Given the description of an element on the screen output the (x, y) to click on. 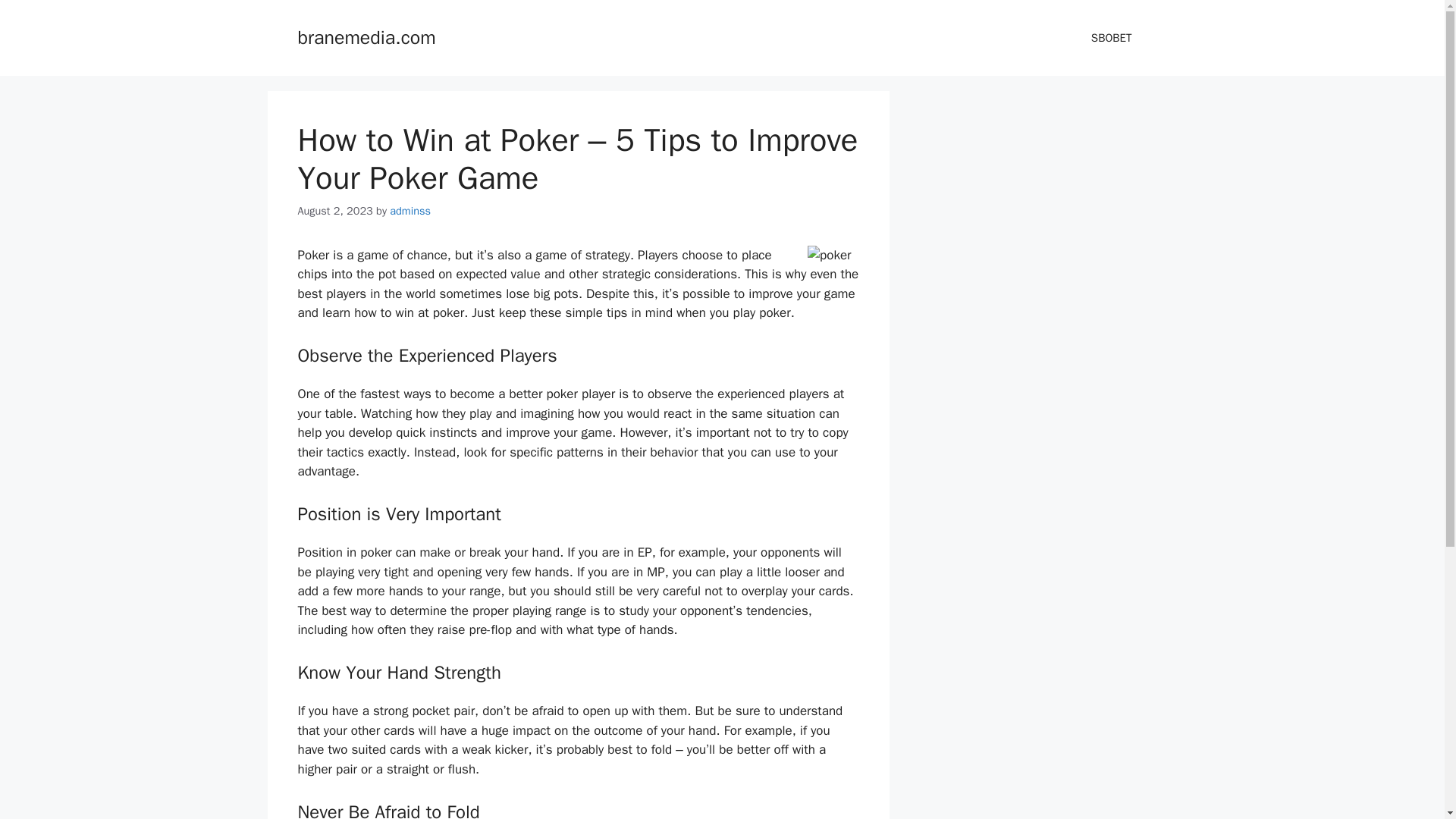
branemedia.com (366, 37)
View all posts by adminss (410, 210)
adminss (410, 210)
SBOBET (1111, 37)
